Given the description of an element on the screen output the (x, y) to click on. 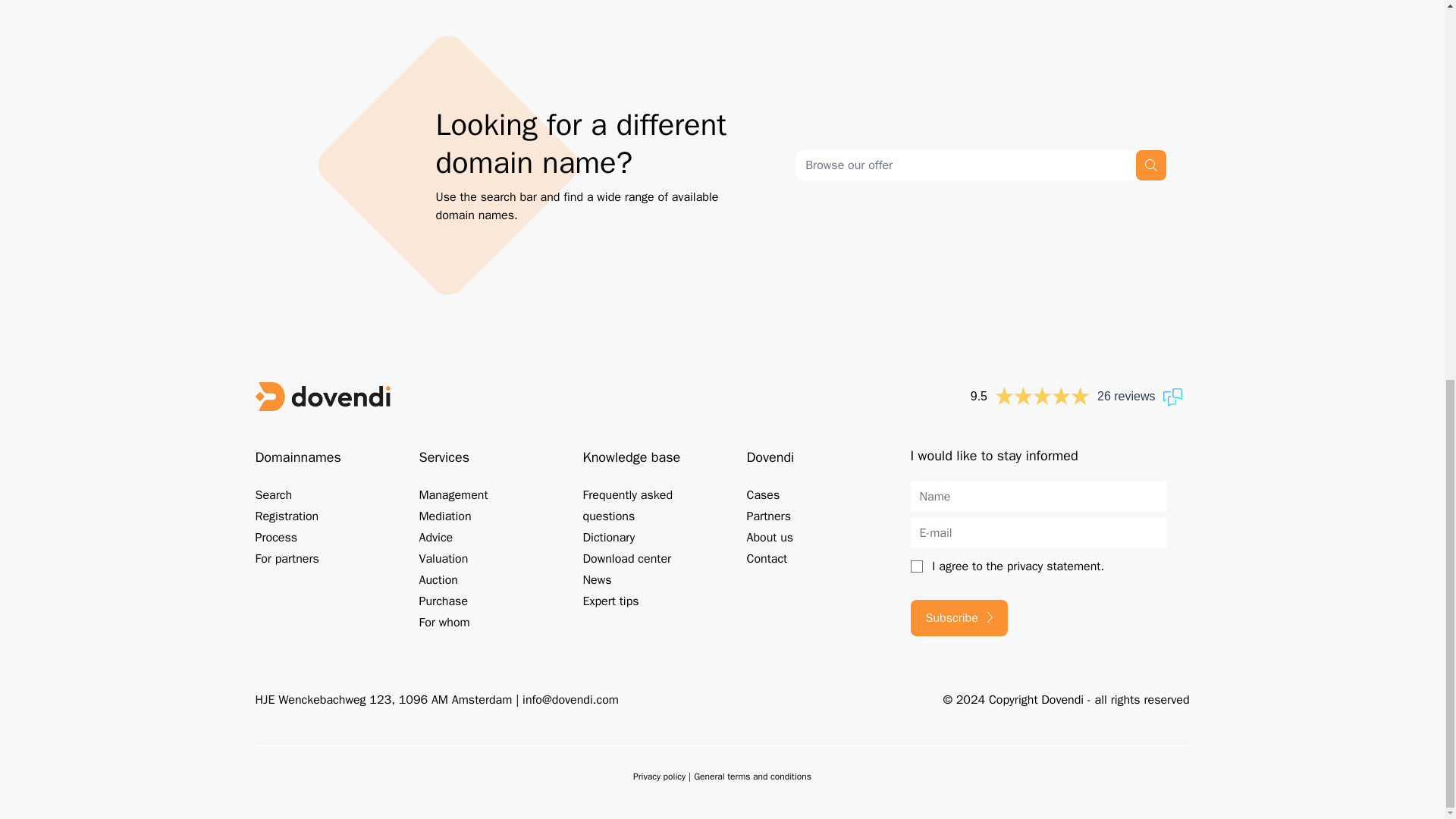
on (915, 566)
